Given the description of an element on the screen output the (x, y) to click on. 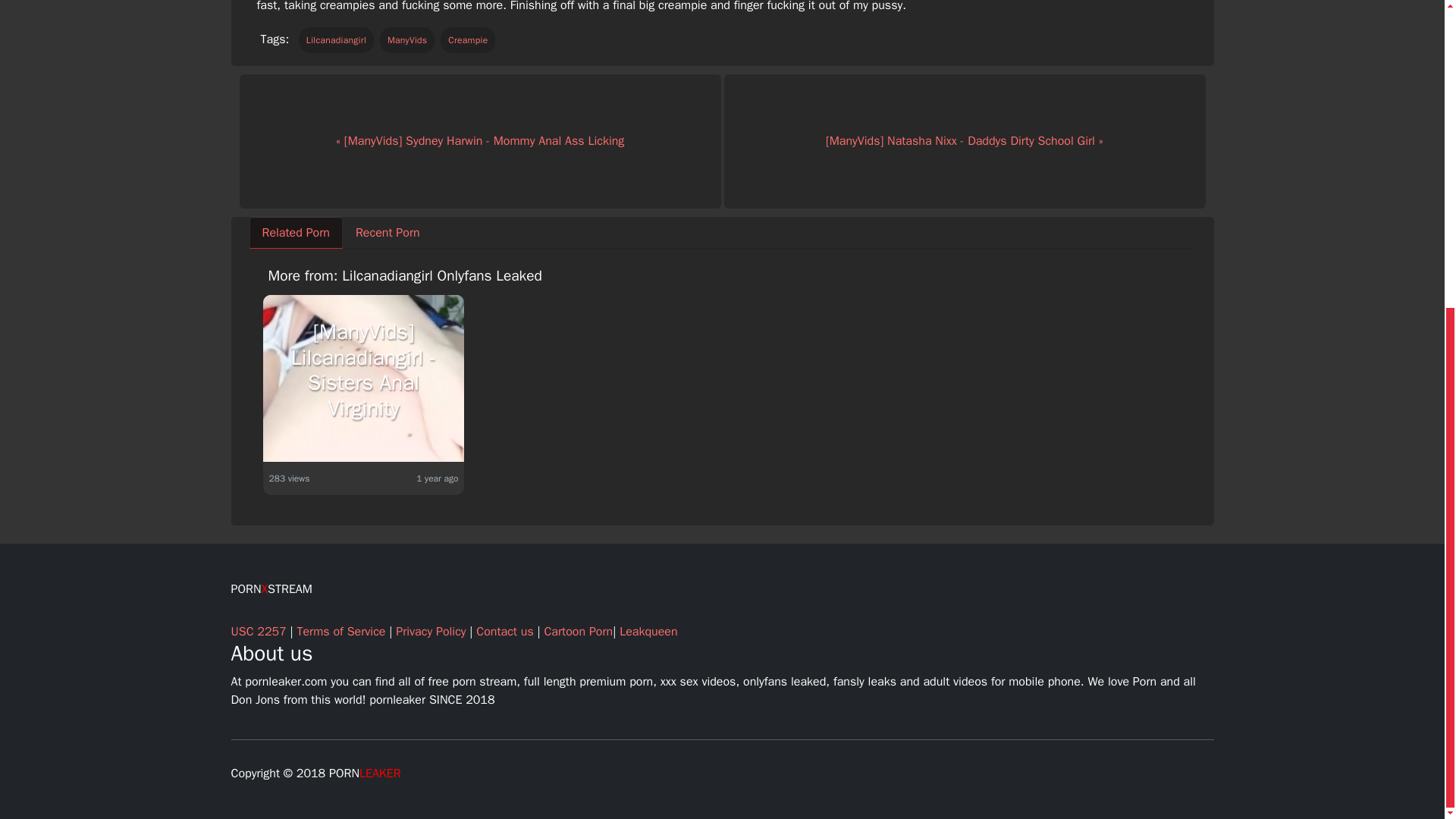
Creampie (468, 40)
ManyVids (407, 40)
Recent Porn (387, 232)
Related Porn (295, 232)
Lilcanadiangirl (336, 40)
